Given the description of an element on the screen output the (x, y) to click on. 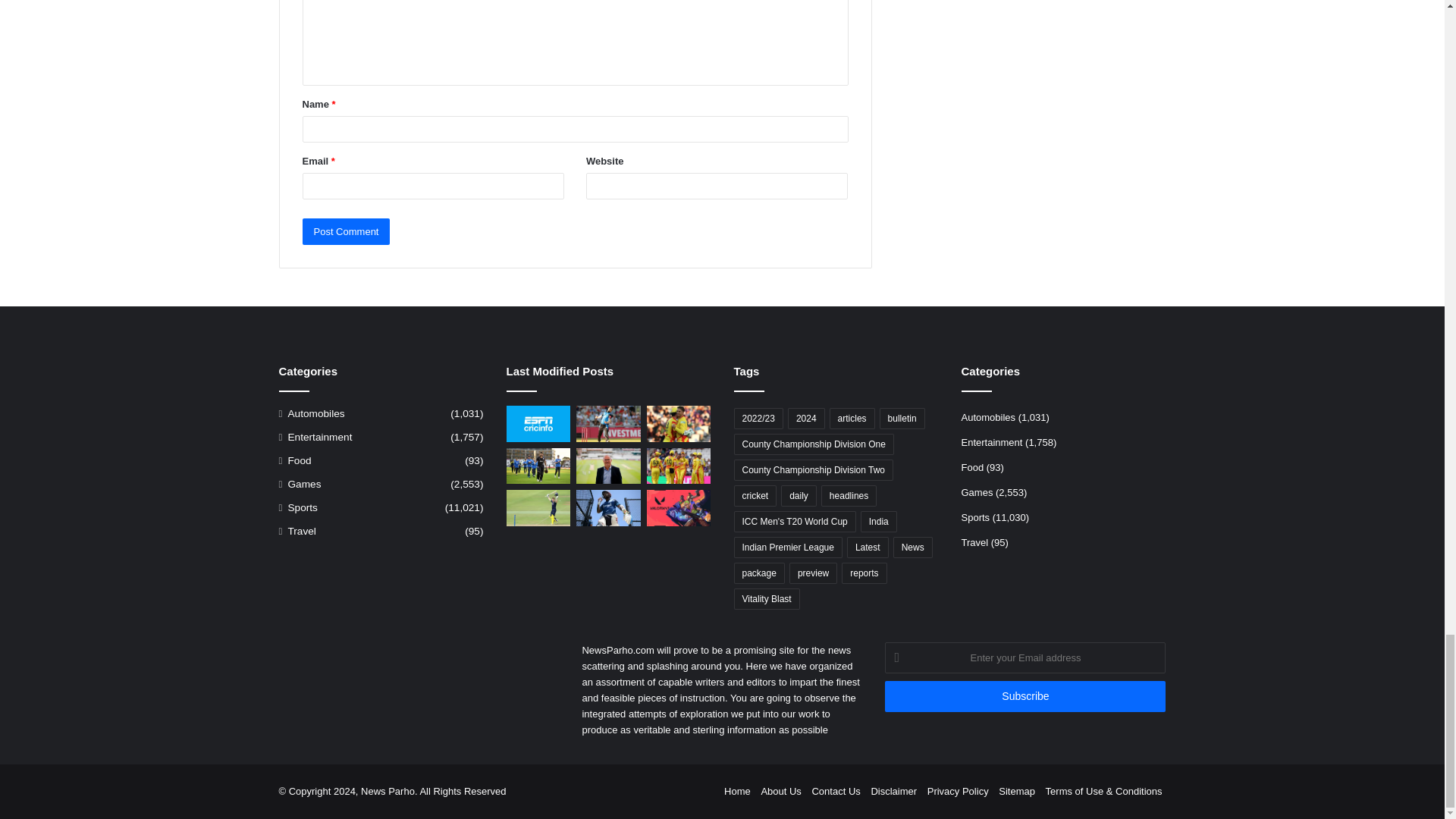
Subscribe (1025, 695)
Post Comment (345, 231)
